Given the description of an element on the screen output the (x, y) to click on. 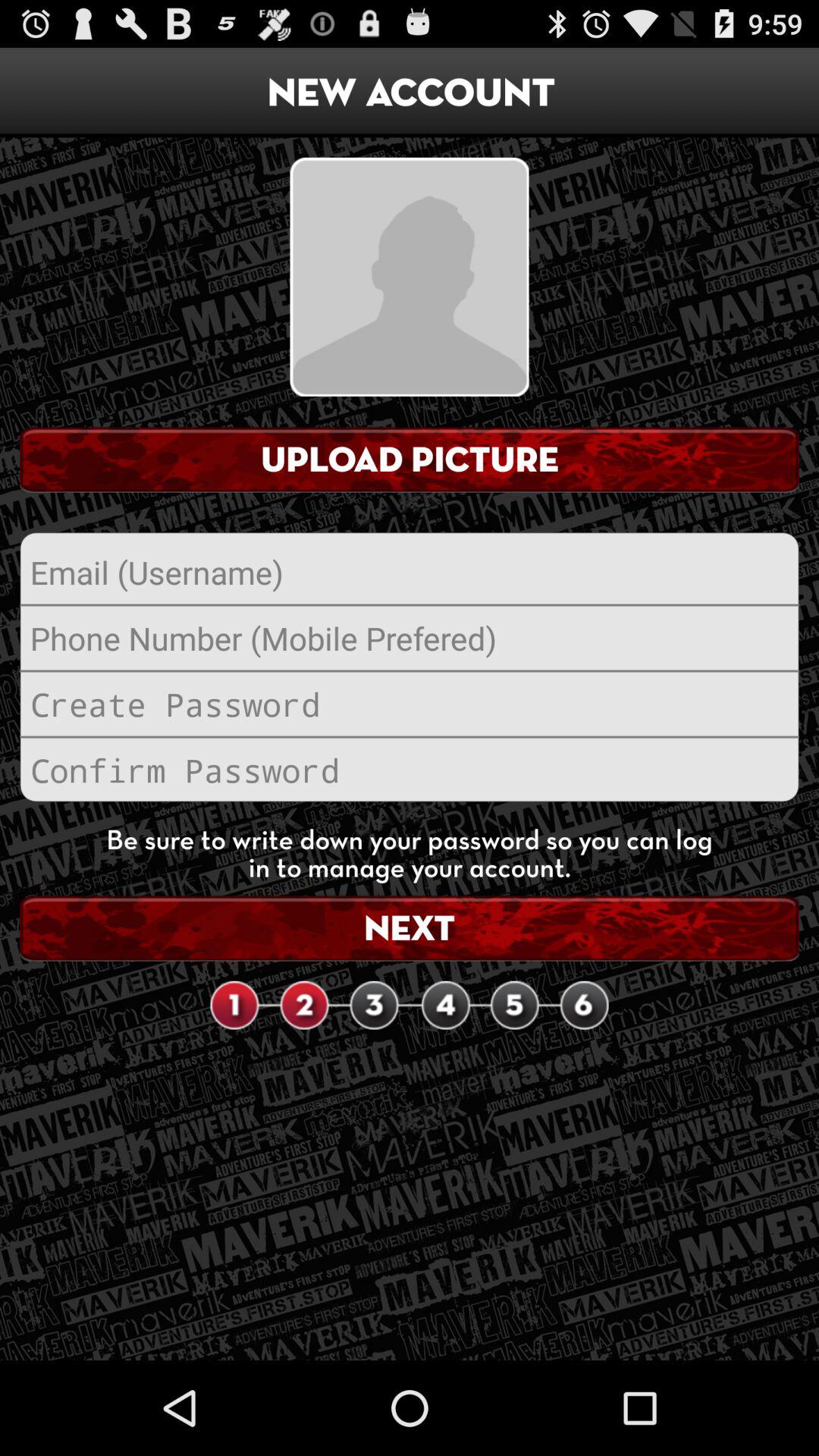
password (409, 769)
